Given the description of an element on the screen output the (x, y) to click on. 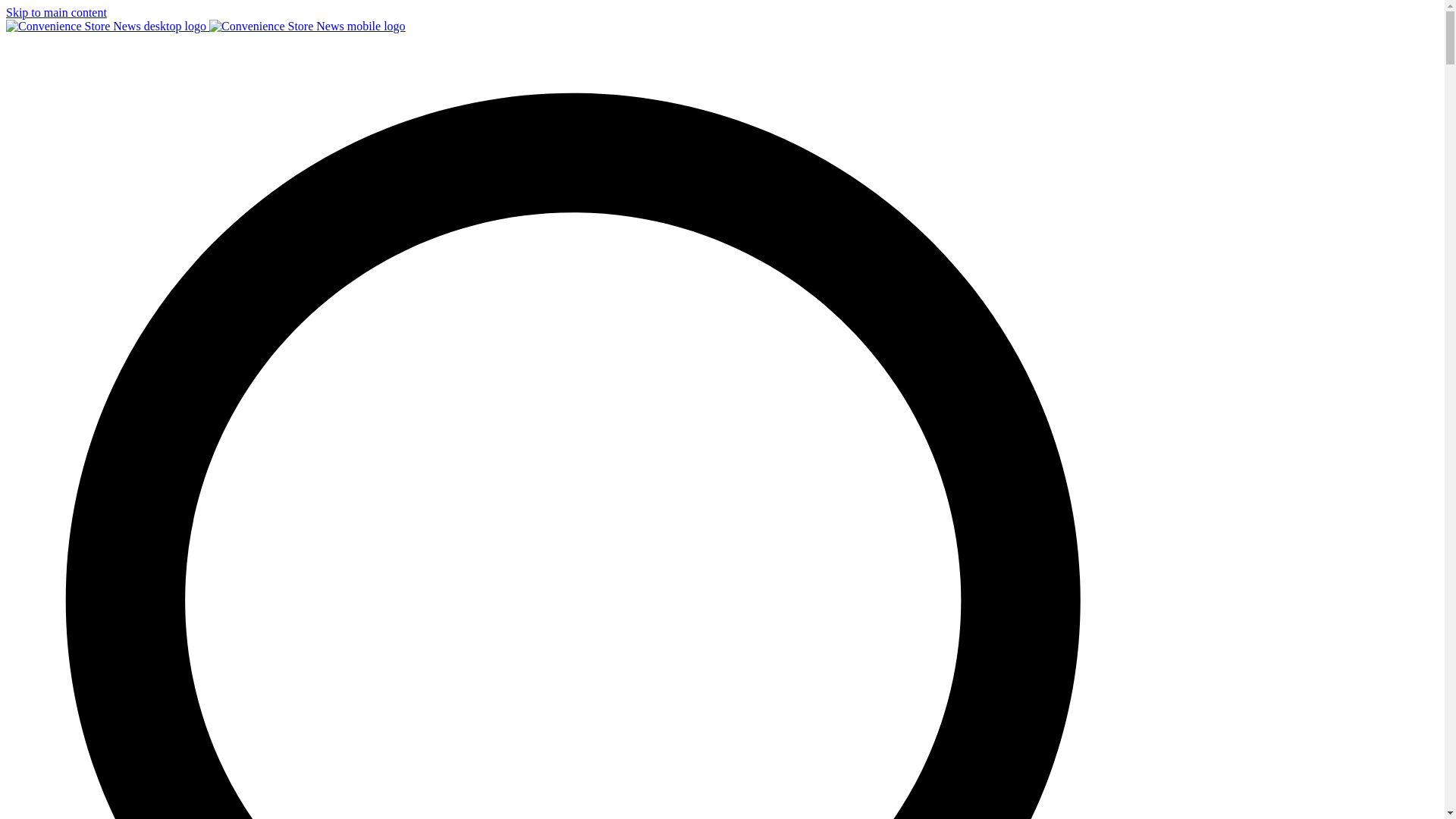
Skip to main content (55, 11)
